Given the description of an element on the screen output the (x, y) to click on. 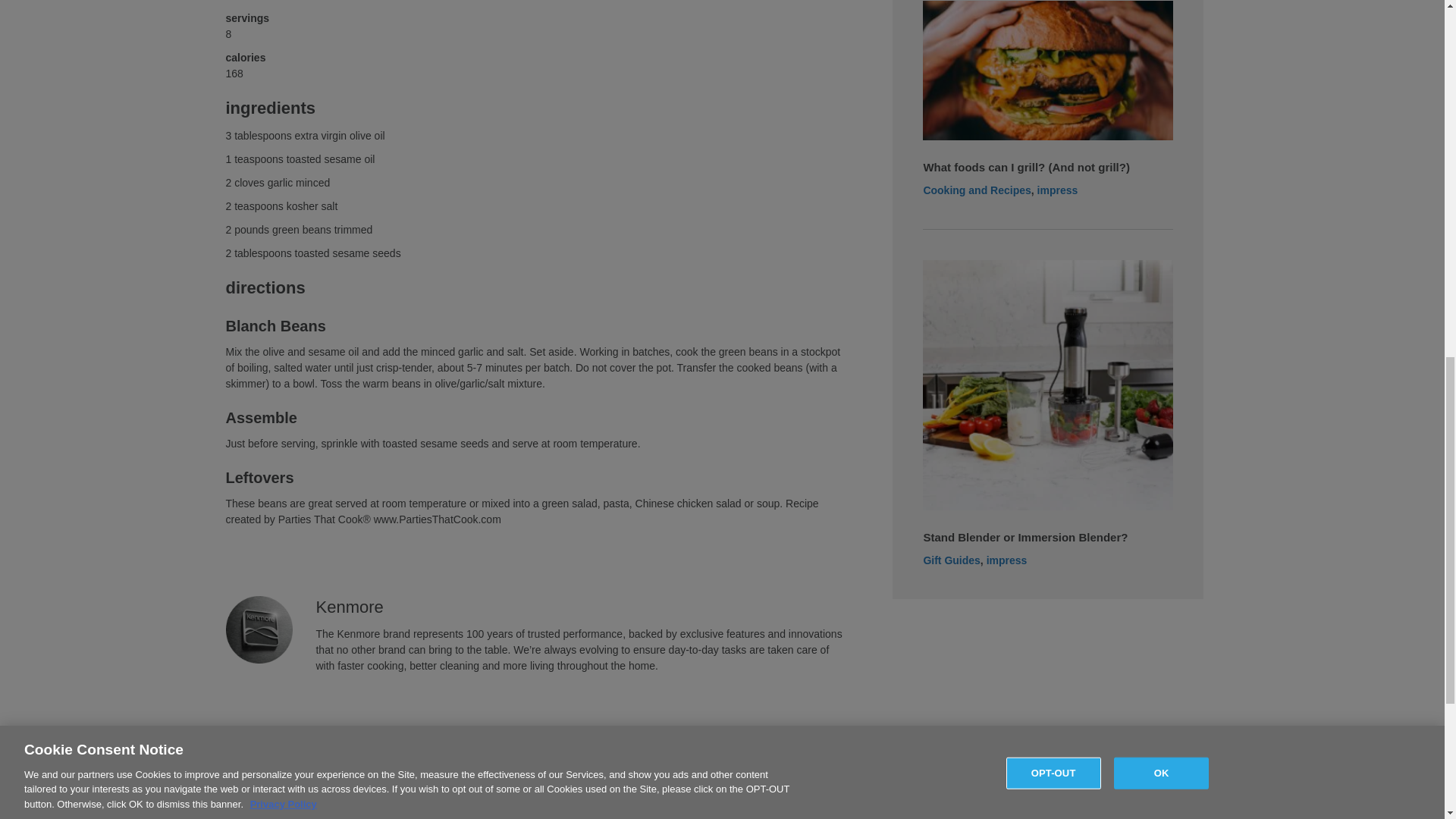
find a store near you (219, 814)
visit home services (498, 814)
Stand Blender or Immersion Blender? (1048, 383)
Stand Blender or Immersion Blender? (1024, 536)
